Given the description of an element on the screen output the (x, y) to click on. 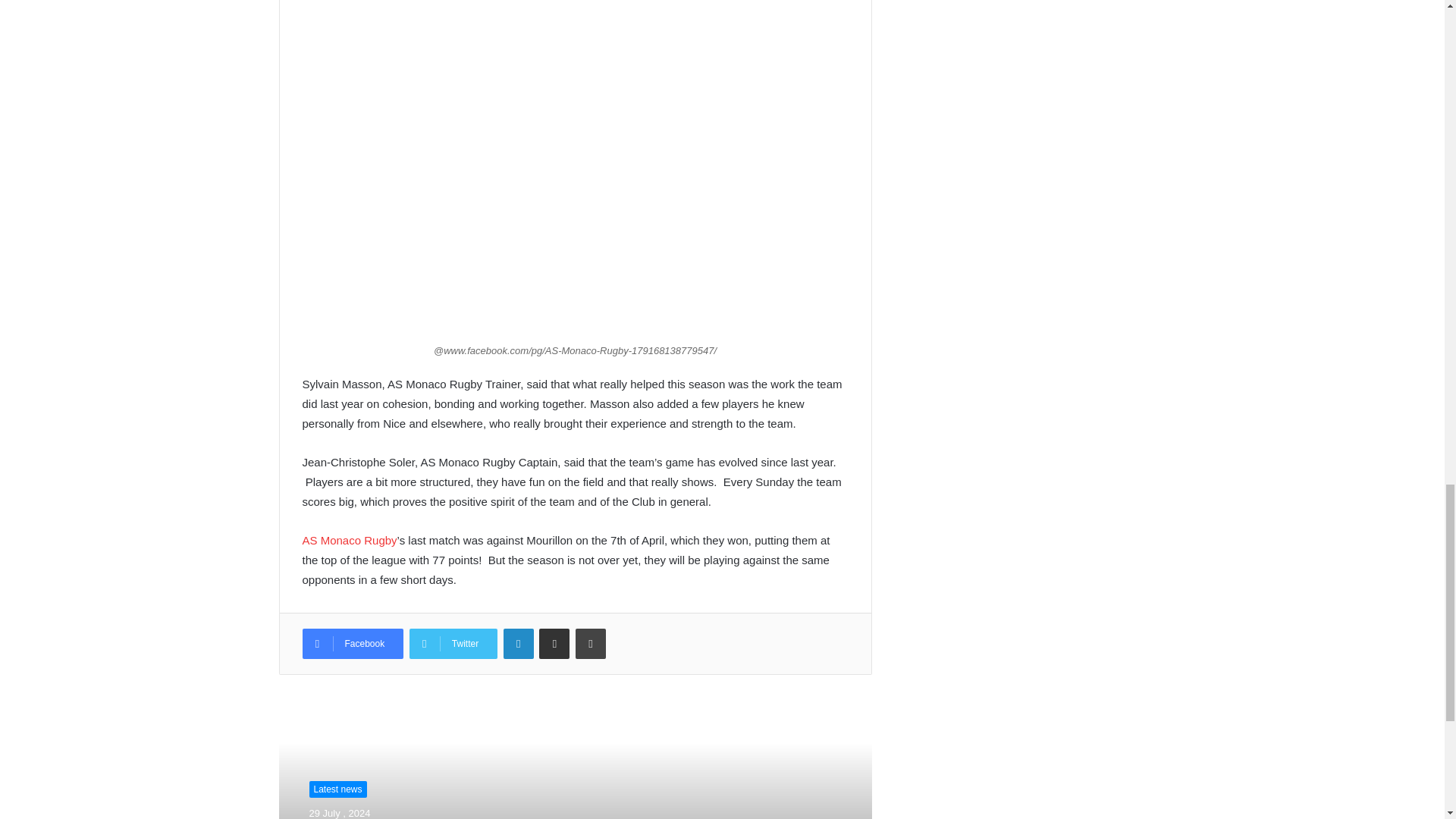
Facebook (352, 643)
Share via Email (553, 643)
LinkedIn (518, 643)
Twitter (453, 643)
Print (590, 643)
